Given the description of an element on the screen output the (x, y) to click on. 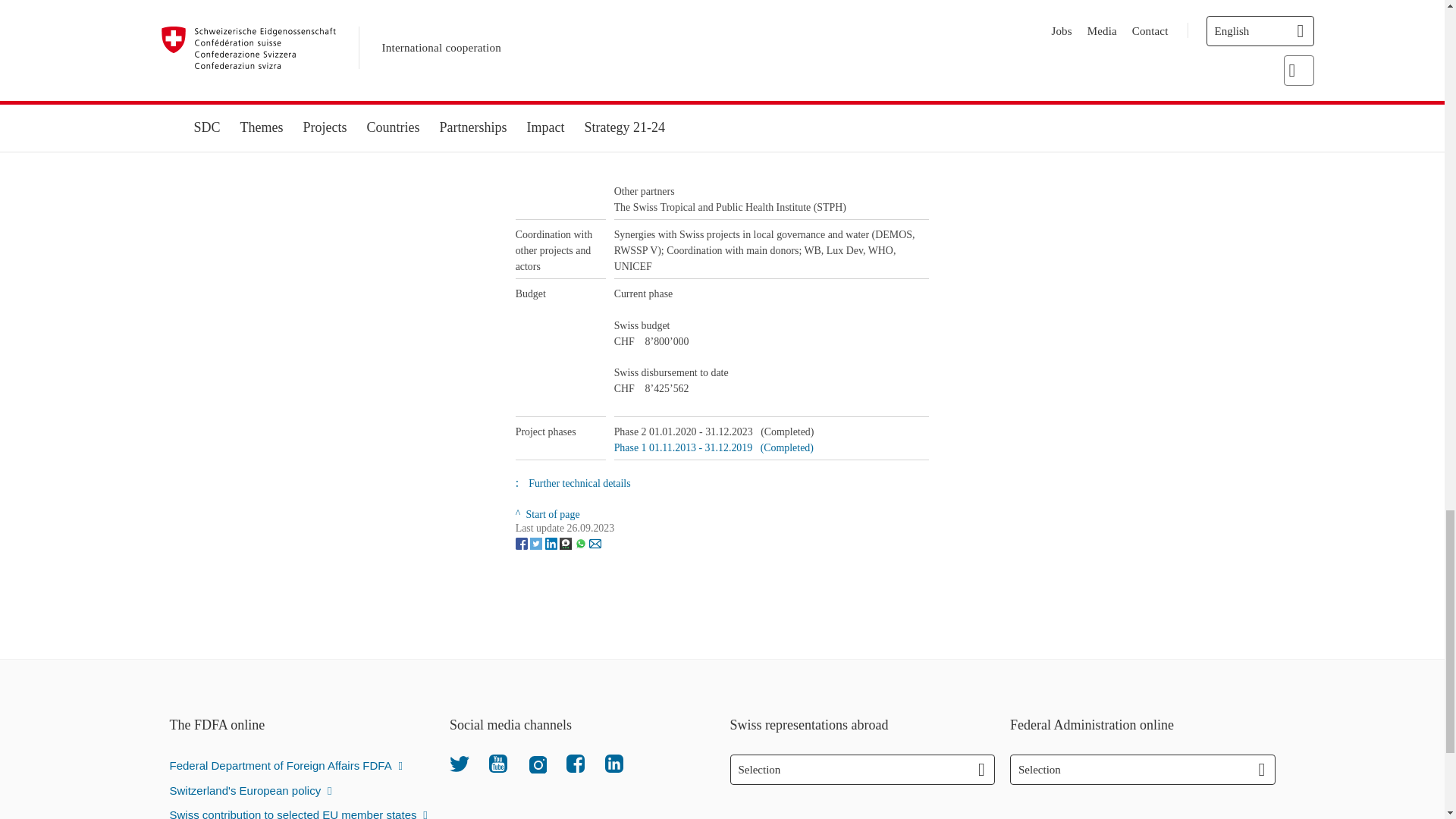
Instagram (537, 763)
Twitter (458, 763)
LinkedIn (614, 763)
Facebook (575, 763)
